Given the description of an element on the screen output the (x, y) to click on. 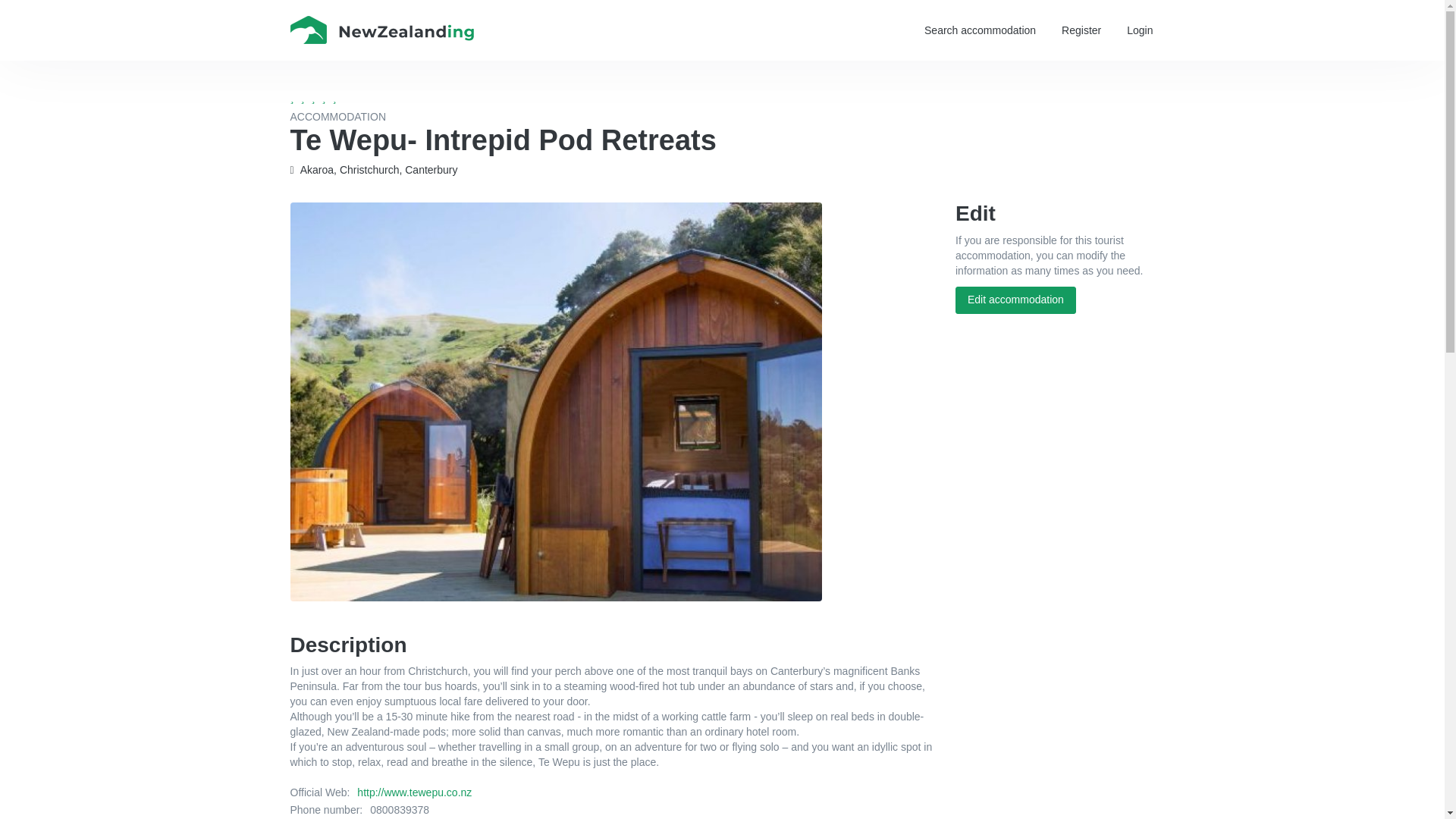
Edit accommodation (1015, 299)
Register (1080, 30)
Search accommodation (979, 30)
Login (1139, 30)
